Given the description of an element on the screen output the (x, y) to click on. 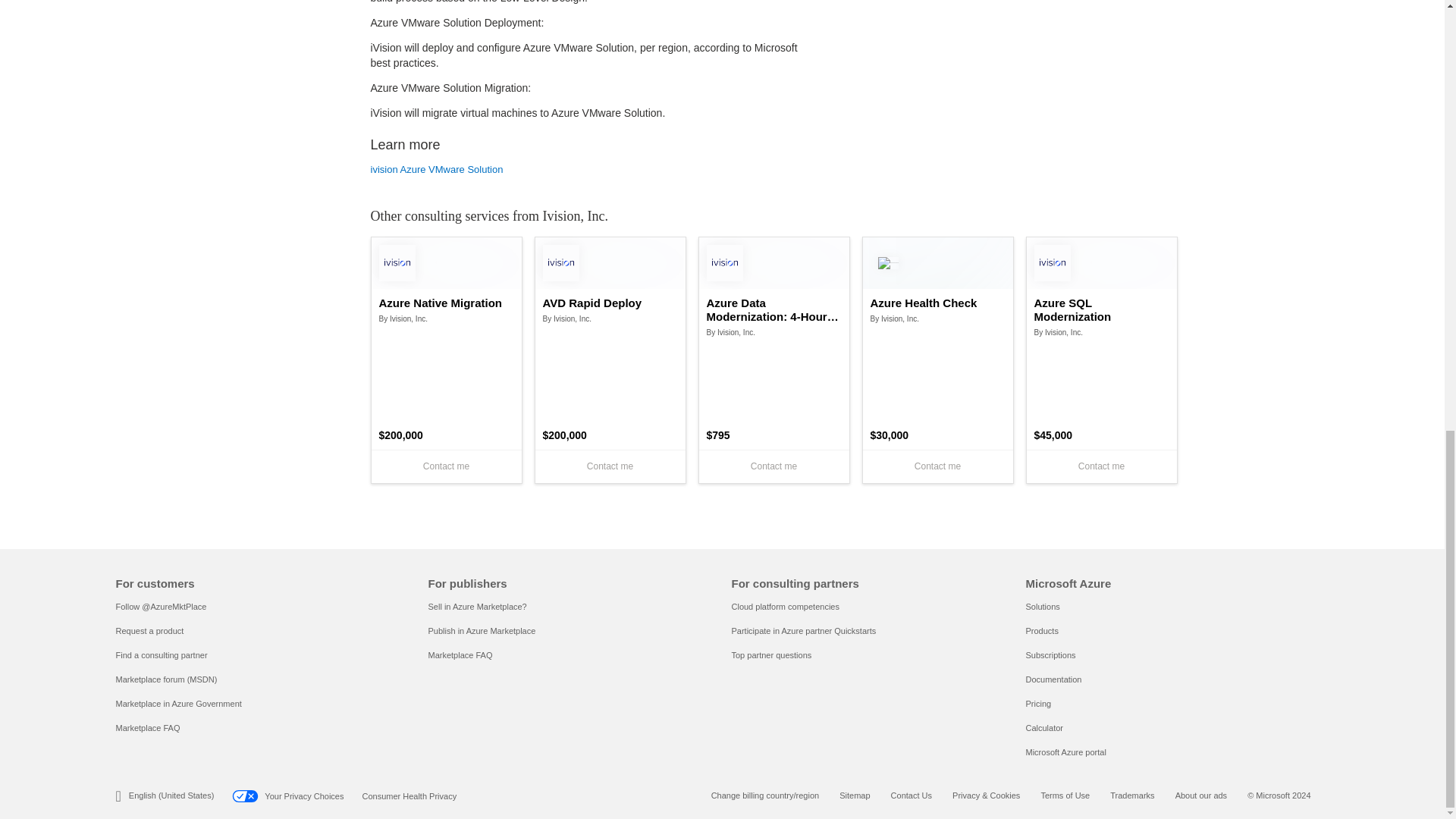
Azure Native Migration (445, 303)
Azure Health Check (938, 303)
Azure SQL Modernization (1101, 309)
Azure Data Modernization: 4-Hour Workshop (773, 309)
AVD Rapid Deploy (610, 303)
